Given the description of an element on the screen output the (x, y) to click on. 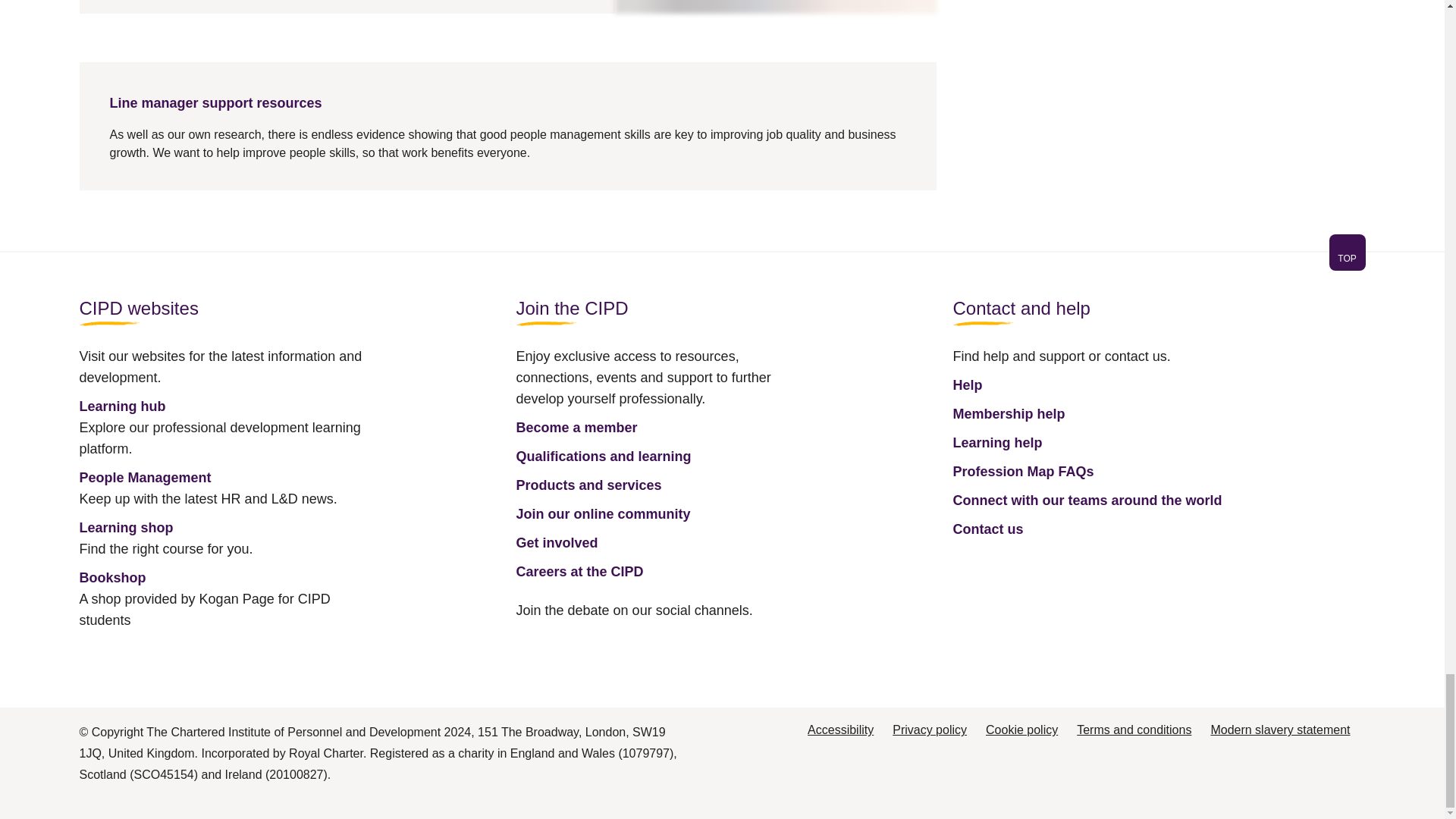
TOP (721, 261)
TOP (1346, 258)
TOP (1346, 252)
